Given the description of an element on the screen output the (x, y) to click on. 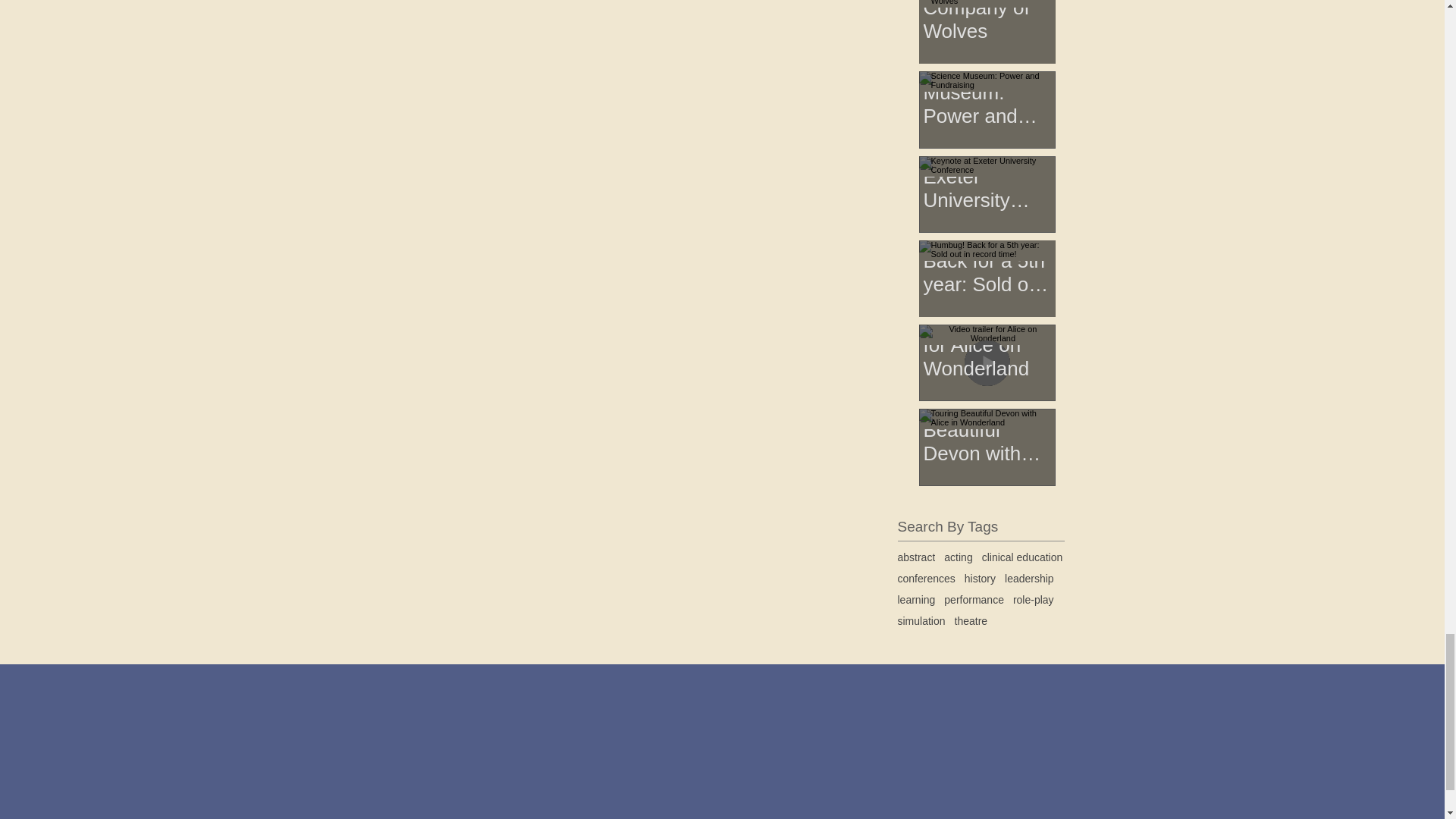
simulation (921, 621)
performance (973, 599)
Keynote at Exeter University Conference (987, 169)
conferences (926, 578)
acting (957, 557)
role-play (1033, 599)
abstract (917, 557)
clinical education (1021, 557)
theatre (971, 621)
leadership (1029, 578)
